Given the description of an element on the screen output the (x, y) to click on. 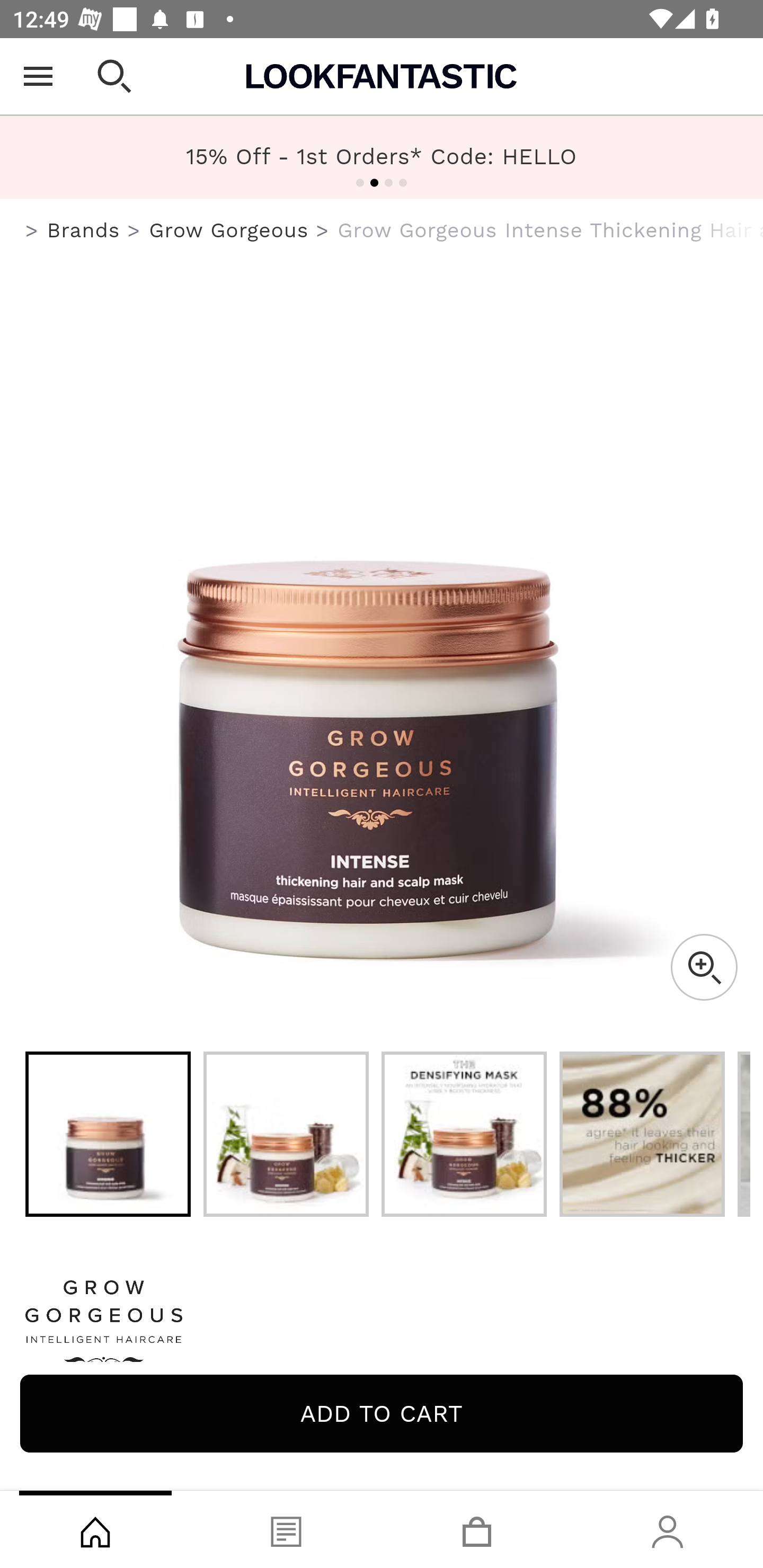
Open Menu (38, 75)
Open search (114, 75)
Lookfantastic USA (381, 75)
us.lookfantastic (32, 230)
Brands (82, 230)
Grow Gorgeous (228, 230)
Zoom (703, 966)
Grow Gorgeous (381, 1327)
Add to cart (381, 1413)
Shop, tab, 1 of 4 (95, 1529)
Blog, tab, 2 of 4 (285, 1529)
Basket, tab, 3 of 4 (476, 1529)
Account, tab, 4 of 4 (667, 1529)
